Given the description of an element on the screen output the (x, y) to click on. 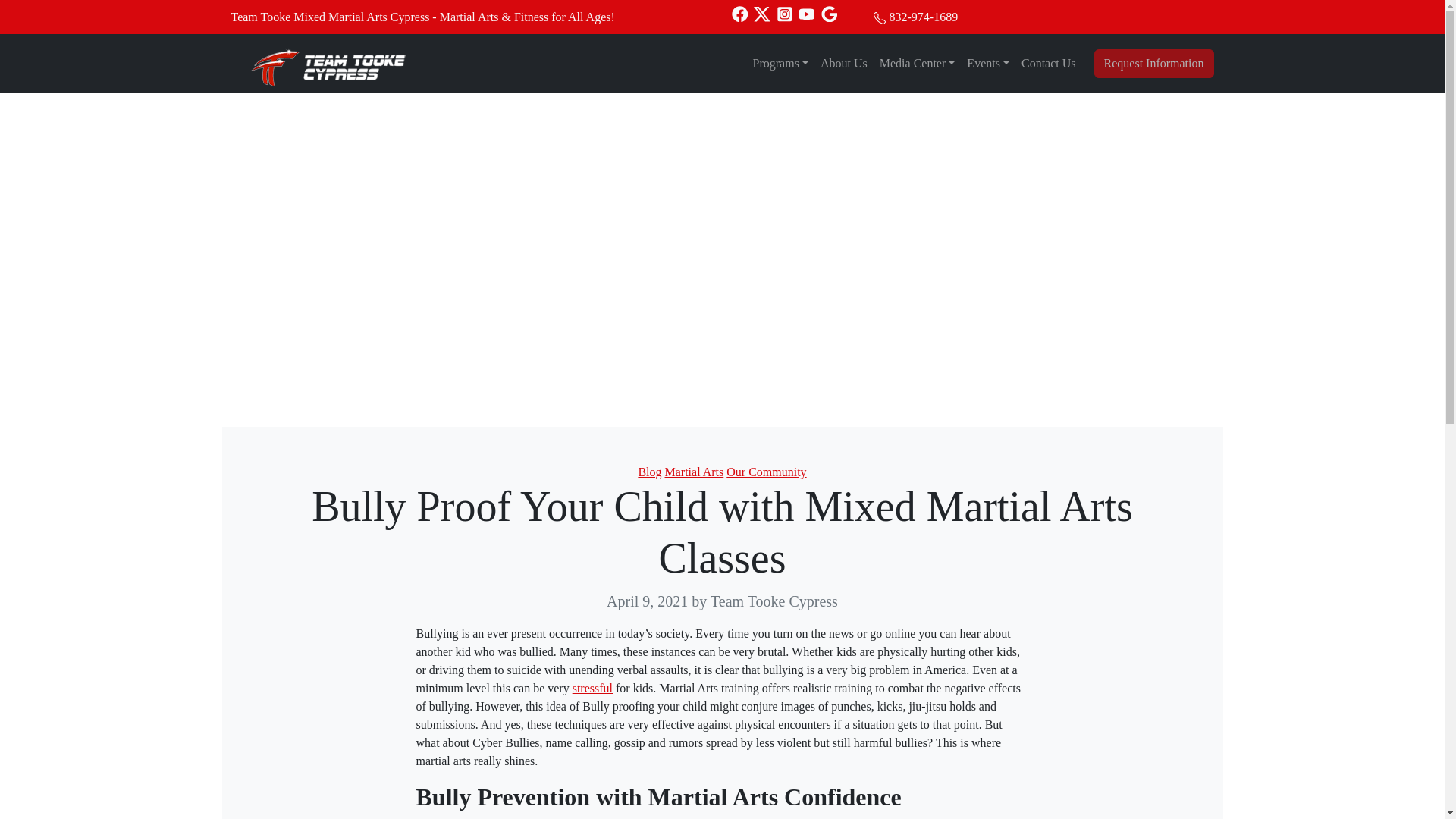
Our Community (766, 472)
Martial Arts (693, 472)
832-974-1689 (923, 16)
Request Information (1154, 63)
Events (987, 63)
stressful (592, 687)
Programs (779, 63)
Follow me on Instagram (784, 12)
About Us (843, 63)
Friend me on Facebook (739, 12)
